Given the description of an element on the screen output the (x, y) to click on. 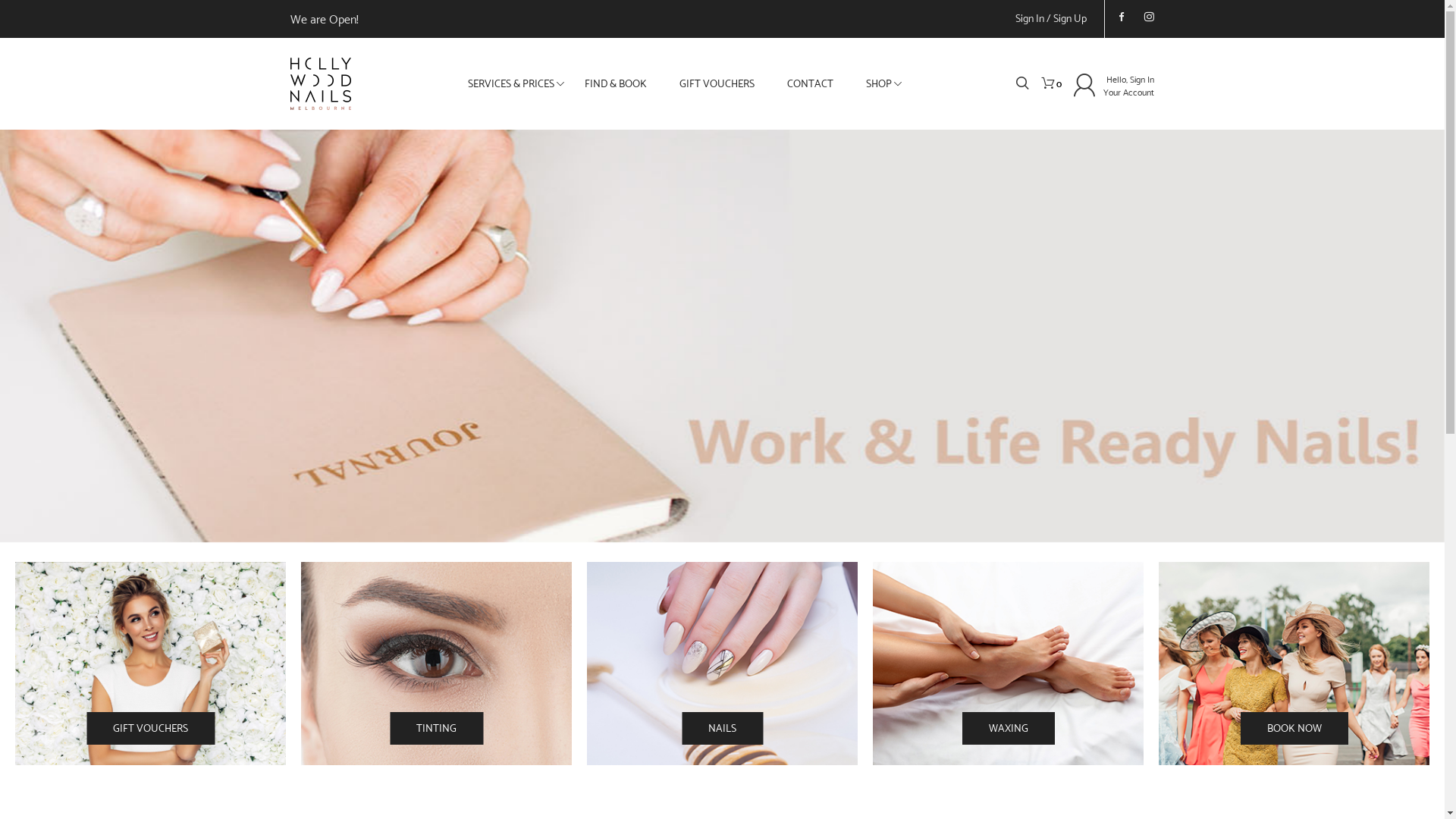
BOOK NOW Element type: text (1294, 728)
FIND & BOOK Element type: text (615, 83)
0 Element type: text (1047, 84)
WAXING Element type: text (1007, 728)
SERVICES & PRICES Element type: text (510, 83)
TINTING Element type: text (436, 728)
SHOP Element type: text (878, 83)
NAILS Element type: text (721, 728)
CONTACT Element type: text (809, 83)
GIFT VOUCHERS Element type: text (150, 728)
Hello, Sign In
Your Account Element type: text (1128, 84)
GIFT VOUCHERS Element type: text (716, 83)
